Given the description of an element on the screen output the (x, y) to click on. 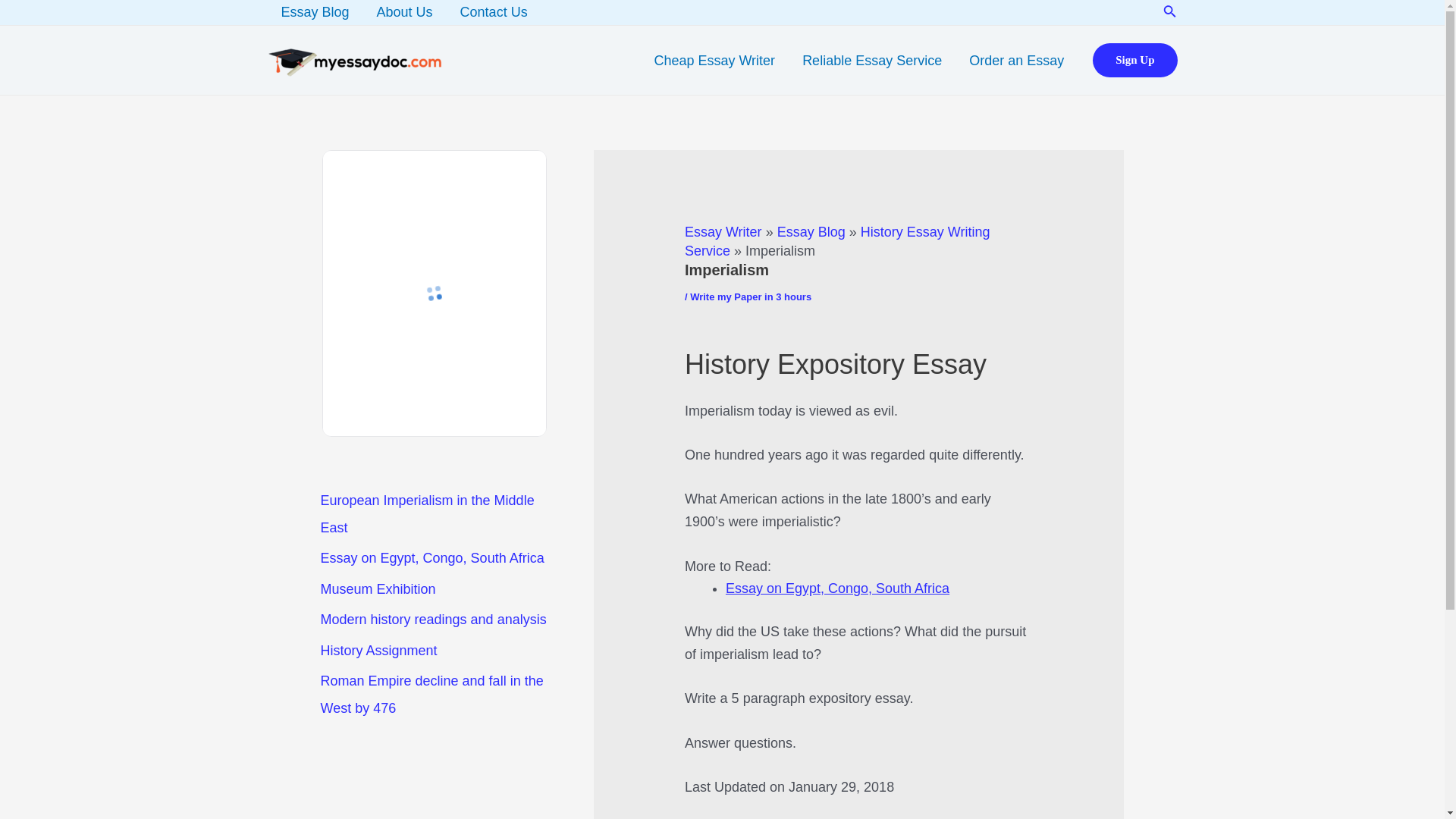
European Imperialism in the Middle East (427, 514)
History Assignment (378, 650)
Museum Exhibition (377, 588)
Modern history readings and analysis (433, 619)
Contact Us (493, 12)
Write my Paper in 3 hours (750, 296)
Essay Blog (314, 12)
Order an Essay (1016, 59)
Essay on Egypt, Congo, South Africa (837, 588)
Sign Up (1134, 59)
